Given the description of an element on the screen output the (x, y) to click on. 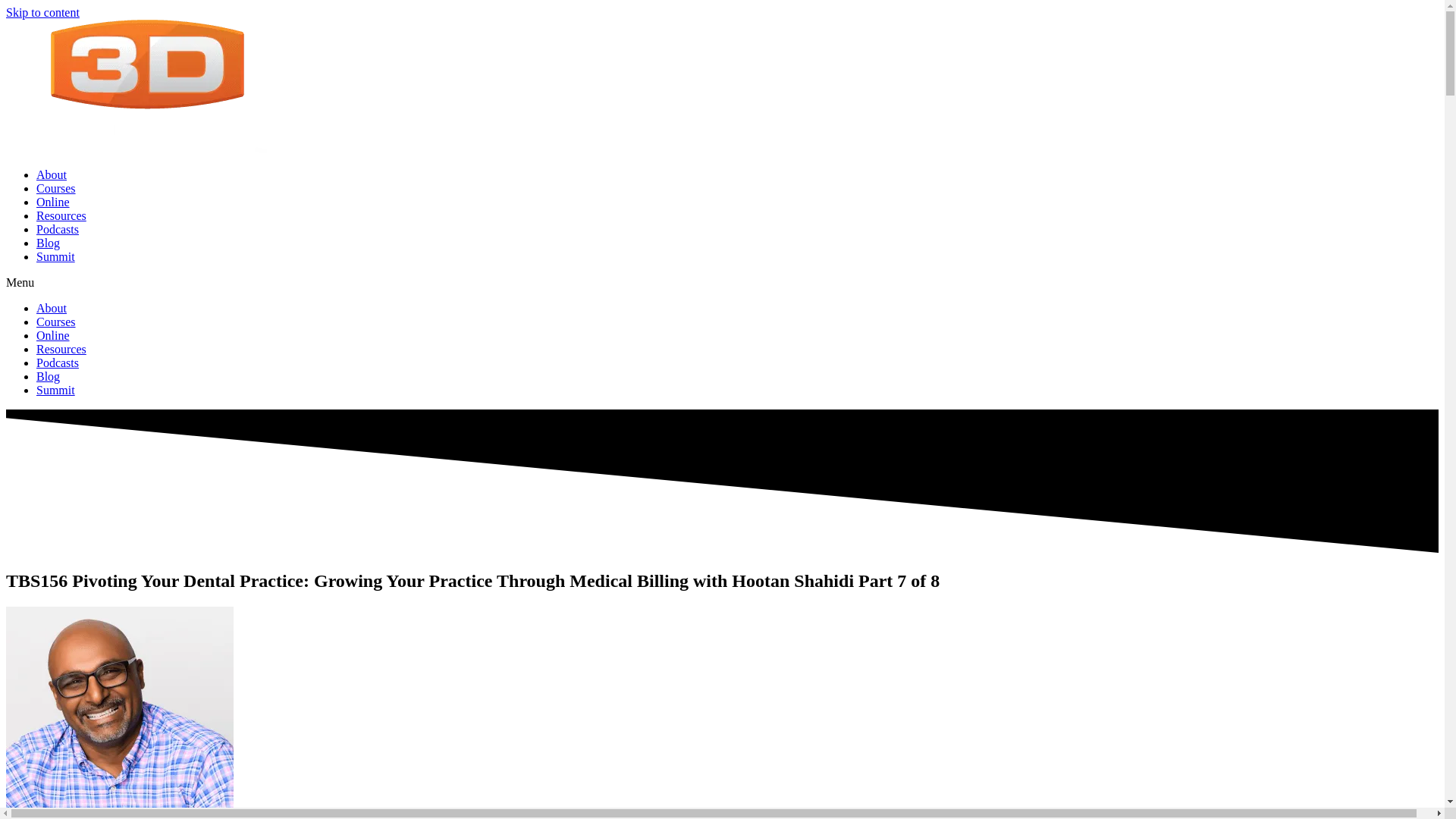
Online (52, 335)
Blog (47, 242)
Courses (55, 321)
Summit (55, 390)
Skip to content (42, 11)
About (51, 308)
Summit (55, 256)
Online (52, 201)
Courses (55, 187)
Blog (47, 376)
Resources (60, 215)
Resources (60, 349)
Podcasts (57, 362)
About (51, 174)
Podcasts (57, 228)
